Given the description of an element on the screen output the (x, y) to click on. 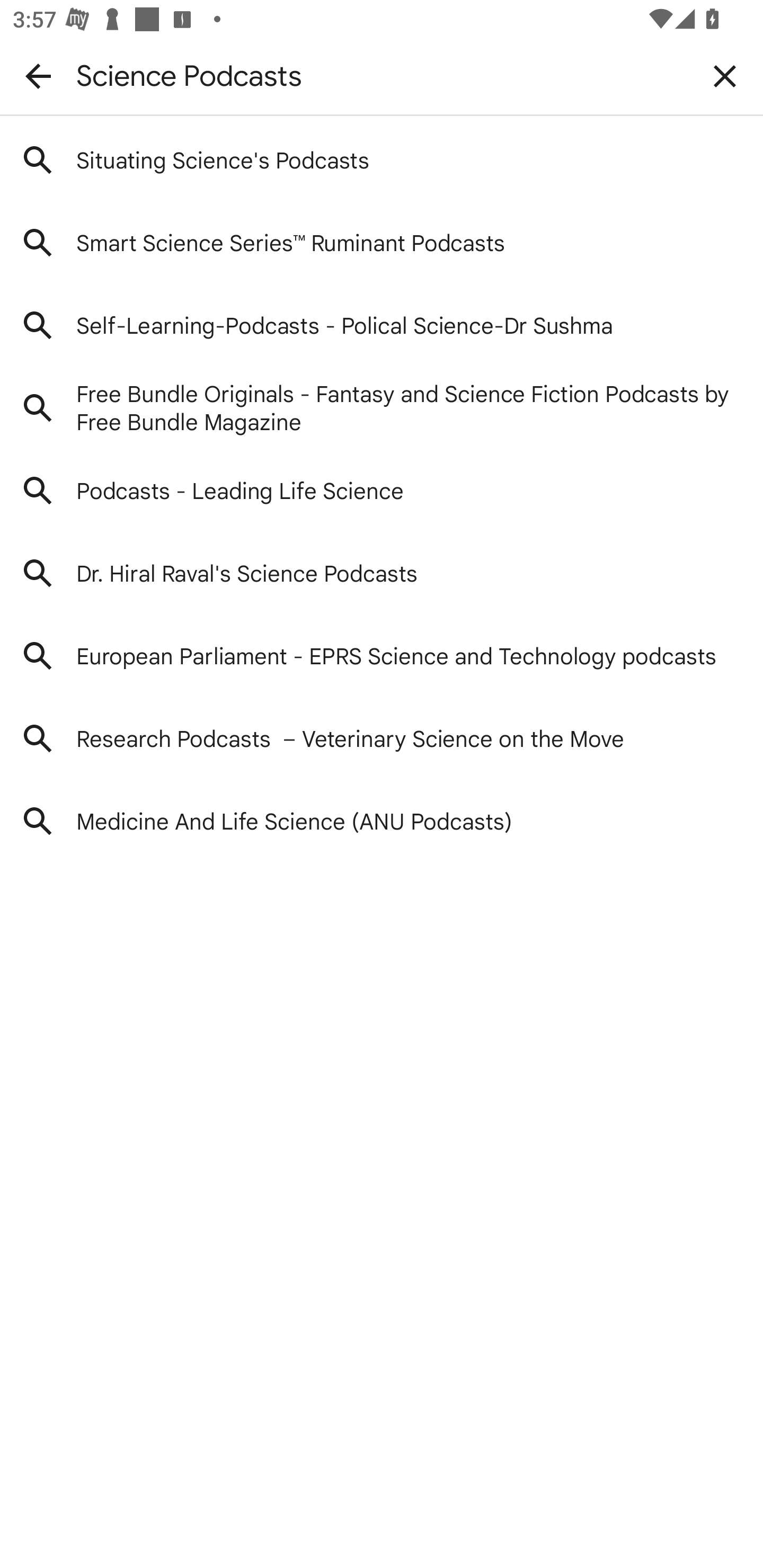
Science Podcasts (381, 75)
Situating Science's Podcasts (381, 160)
Smart Science Series™ Ruminant Podcasts (381, 242)
Self-Learning-Podcasts - Polical Science-Dr Sushma (381, 324)
Podcasts - Leading Life Science (381, 491)
Dr. Hiral Raval's Science Podcasts (381, 573)
Medicine And Life Science (ANU Podcasts) (381, 821)
